Given the description of an element on the screen output the (x, y) to click on. 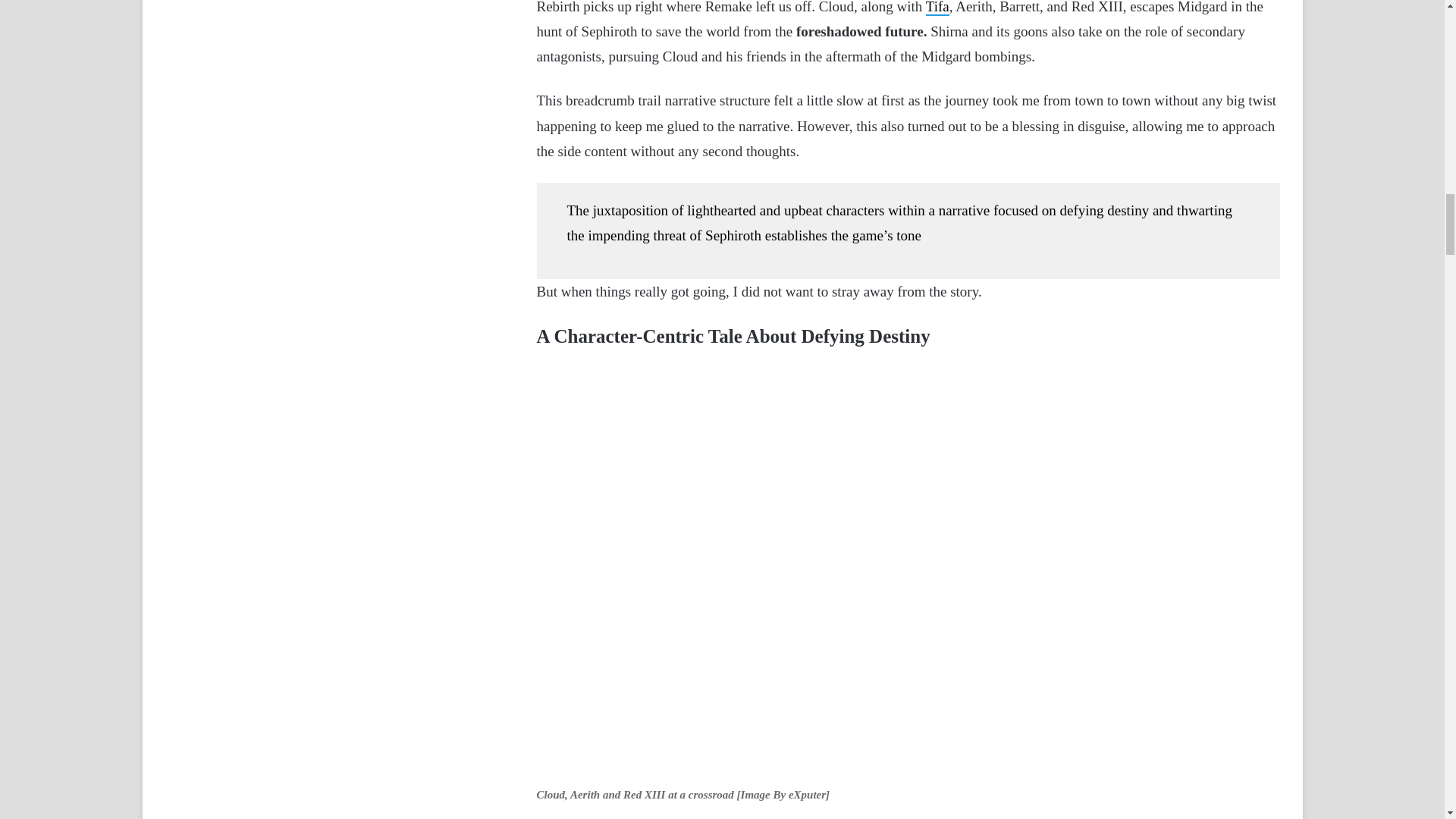
Tifa (937, 7)
